Given the description of an element on the screen output the (x, y) to click on. 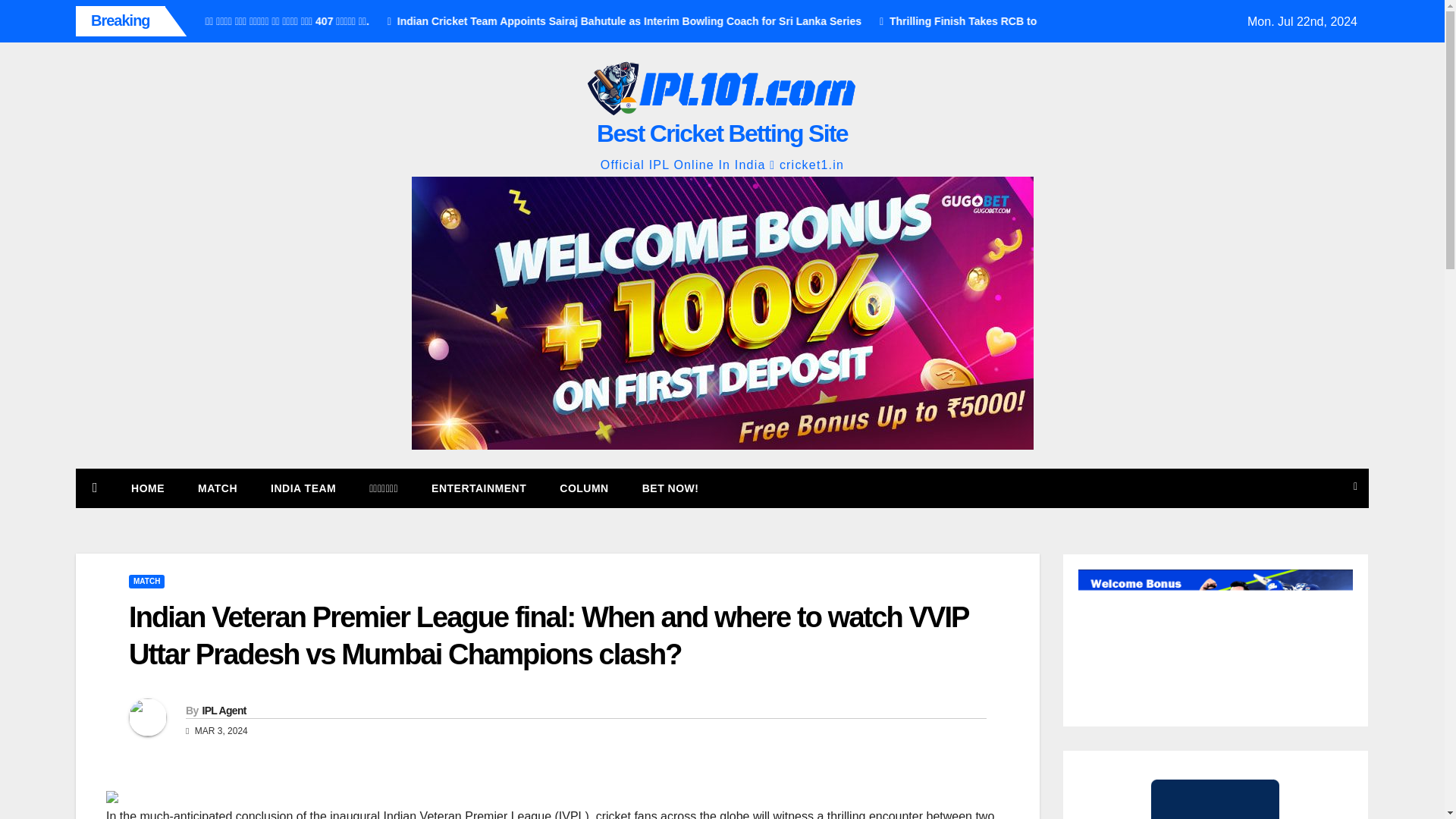
MATCH (146, 581)
Home (147, 487)
Match (216, 487)
COLUMN (583, 487)
Best Cricket Betting Site (721, 133)
Bet Now! (671, 487)
MATCH (216, 487)
HOME (147, 487)
BET NOW! (671, 487)
Entertainment (478, 487)
ENTERTAINMENT (478, 487)
IPL Agent (224, 710)
INDIA TEAM (302, 487)
